Given the description of an element on the screen output the (x, y) to click on. 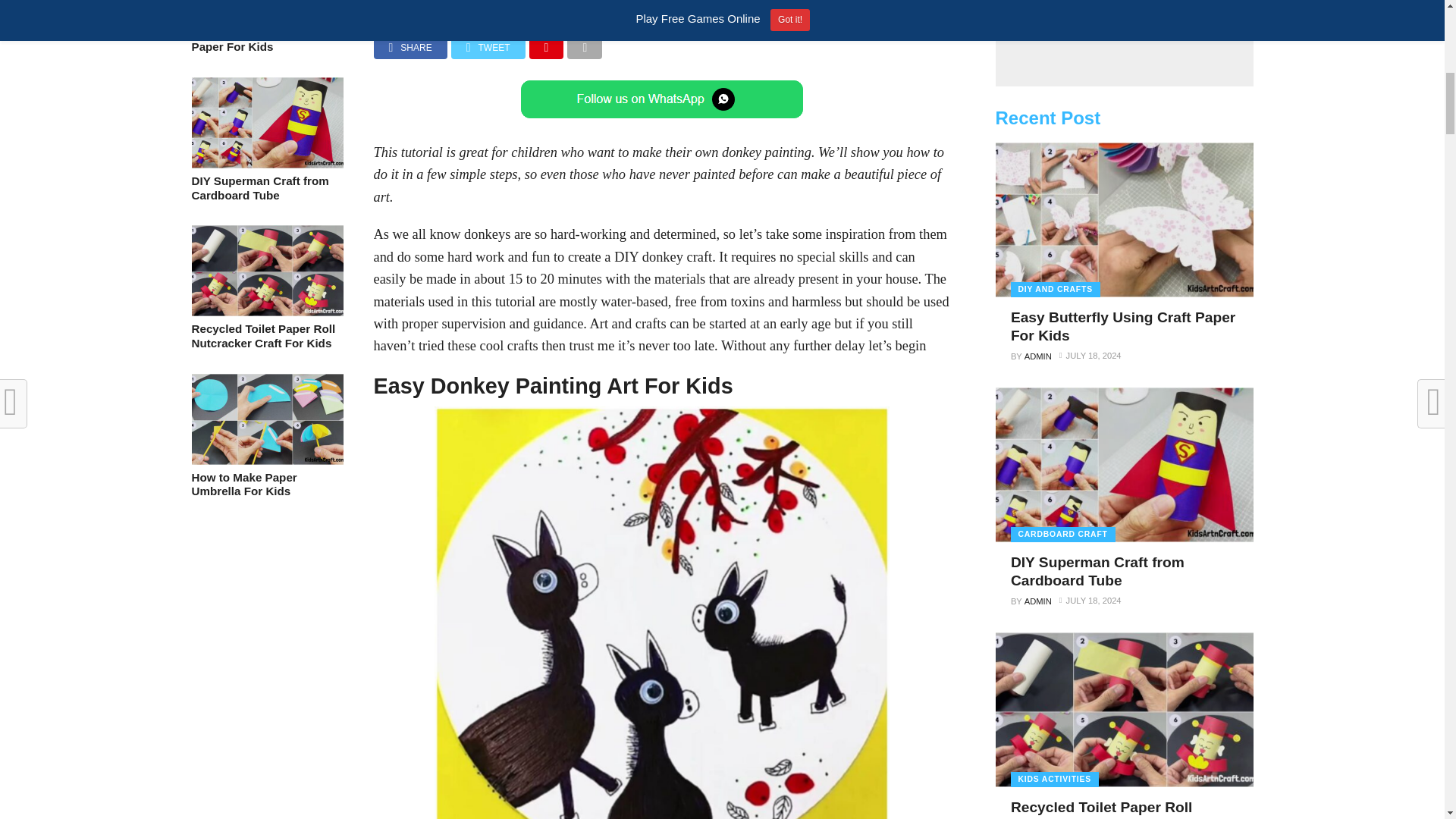
How to Make Paper Umbrella For Kids (266, 460)
Recycled Toilet Paper Roll Nutcracker Craft For Kids (266, 311)
DIY Superman Craft from Cardboard Tube (266, 164)
Posts by Prerana Singh (470, 2)
Easy Butterfly Using Craft Paper For Kids (266, 15)
